Given the description of an element on the screen output the (x, y) to click on. 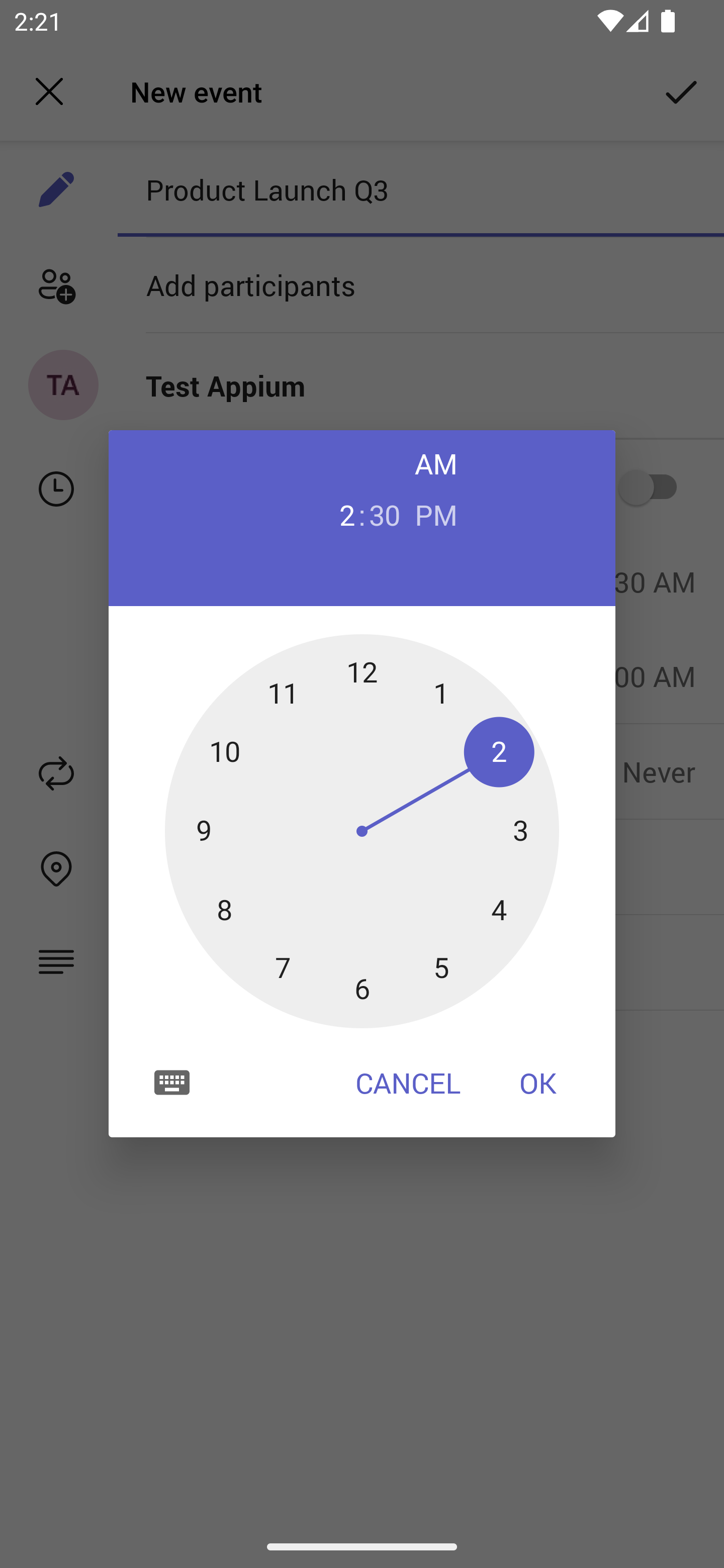
AM (435, 463)
PM (435, 514)
2 (338, 514)
30 (384, 514)
CANCEL (407, 1082)
OK (537, 1082)
Switch to text input mode for the time input. (171, 1081)
